Given the description of an element on the screen output the (x, y) to click on. 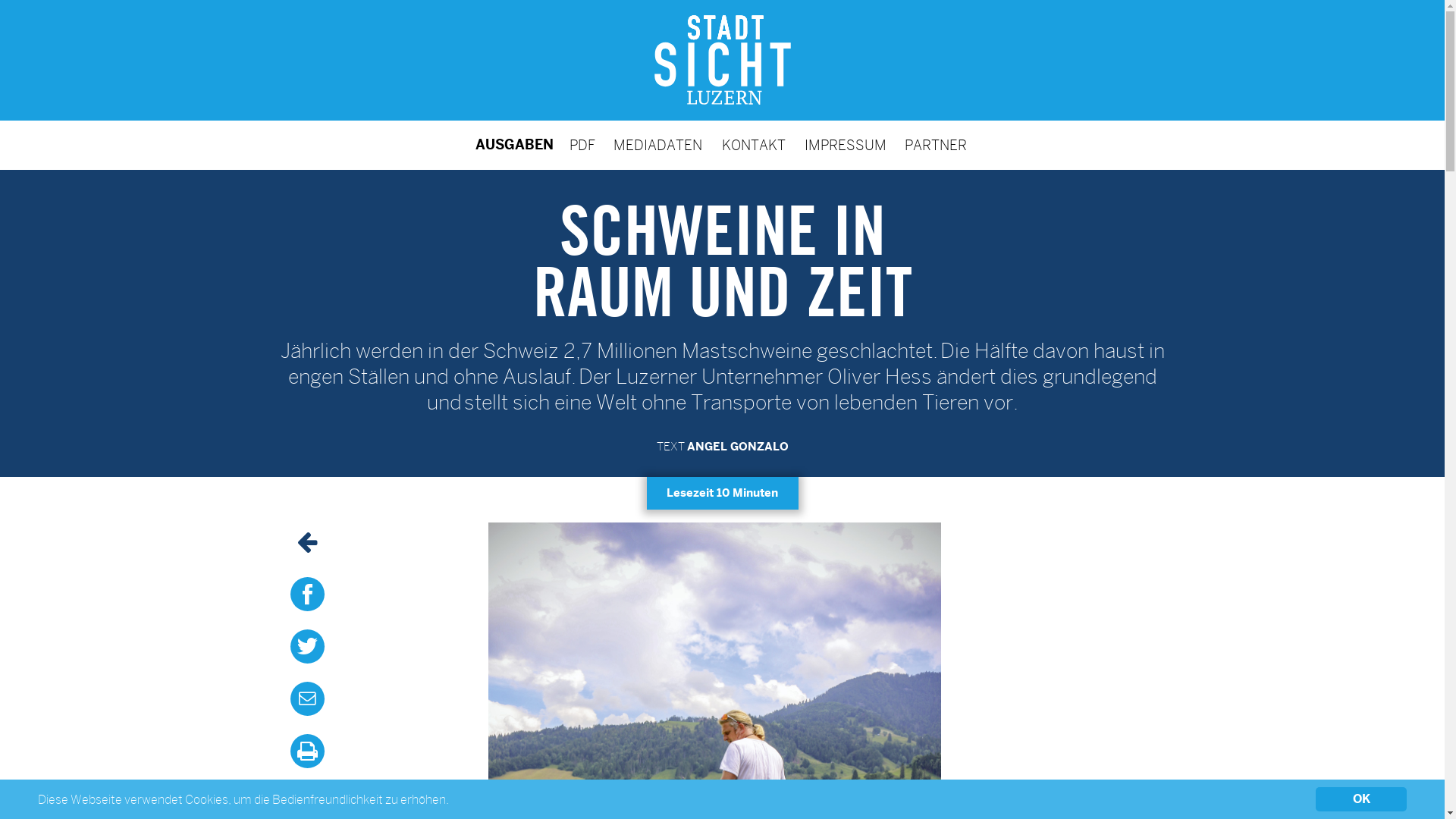
Stadtsicht Luzern Element type: hover (721, 60)
Per E-Mail teilen Element type: hover (306, 704)
Tweet this! Element type: hover (306, 652)
IMPRESSUM Element type: text (844, 144)
MEDIADATEN Element type: text (657, 144)
PARTNER Element type: text (935, 144)
PDF Element type: text (582, 144)
OK Element type: text (1360, 799)
Auf Facebook teilen Element type: hover (306, 599)
AUSGABEN Element type: text (514, 144)
KONTAKT Element type: text (753, 144)
